Given the description of an element on the screen output the (x, y) to click on. 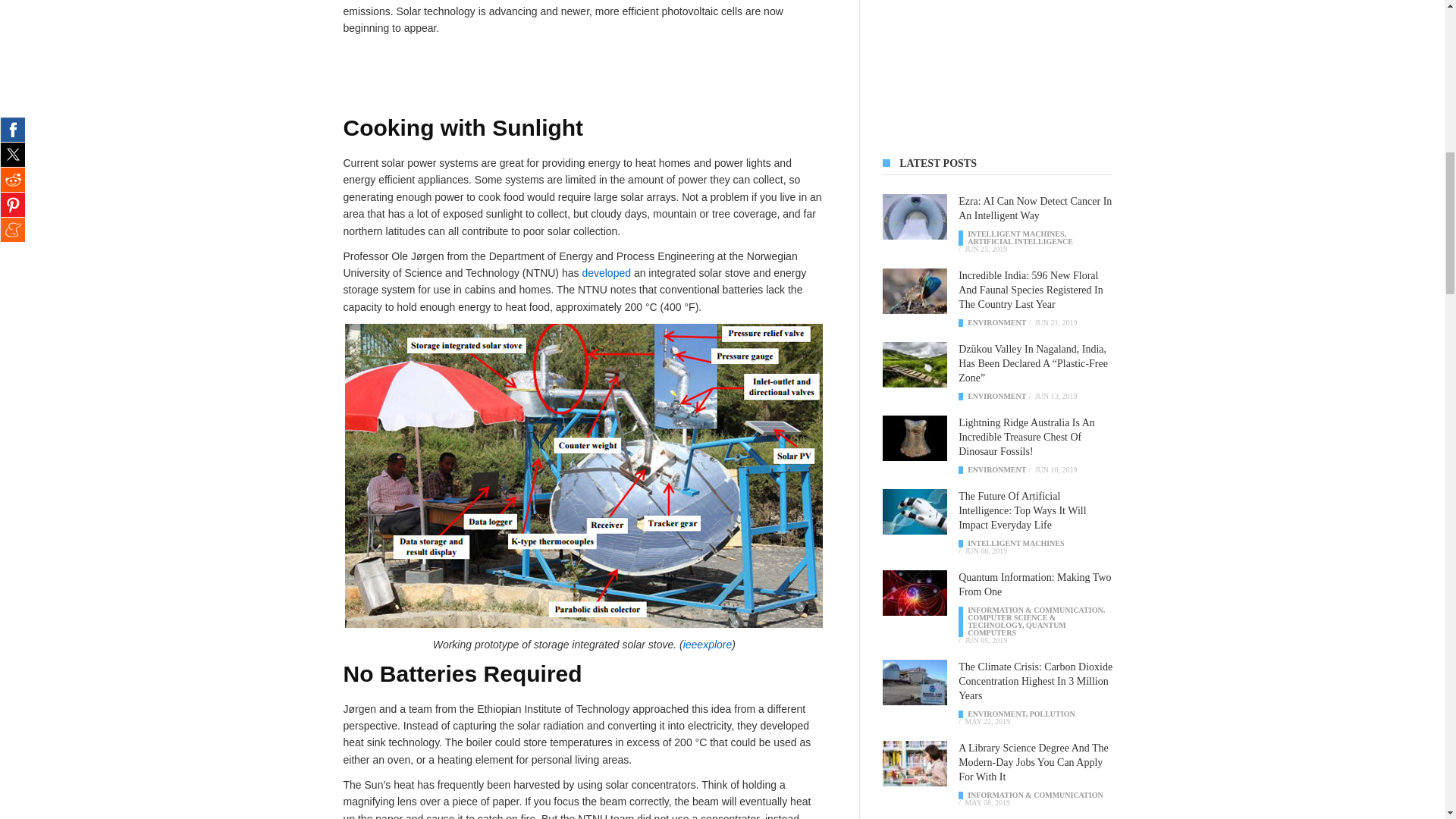
Ezra: AI Can Now Detect Cancer in an Intelligent Way (1035, 208)
Ezra: AI Can Now Detect Cancer in an Intelligent Way (914, 216)
